Given the description of an element on the screen output the (x, y) to click on. 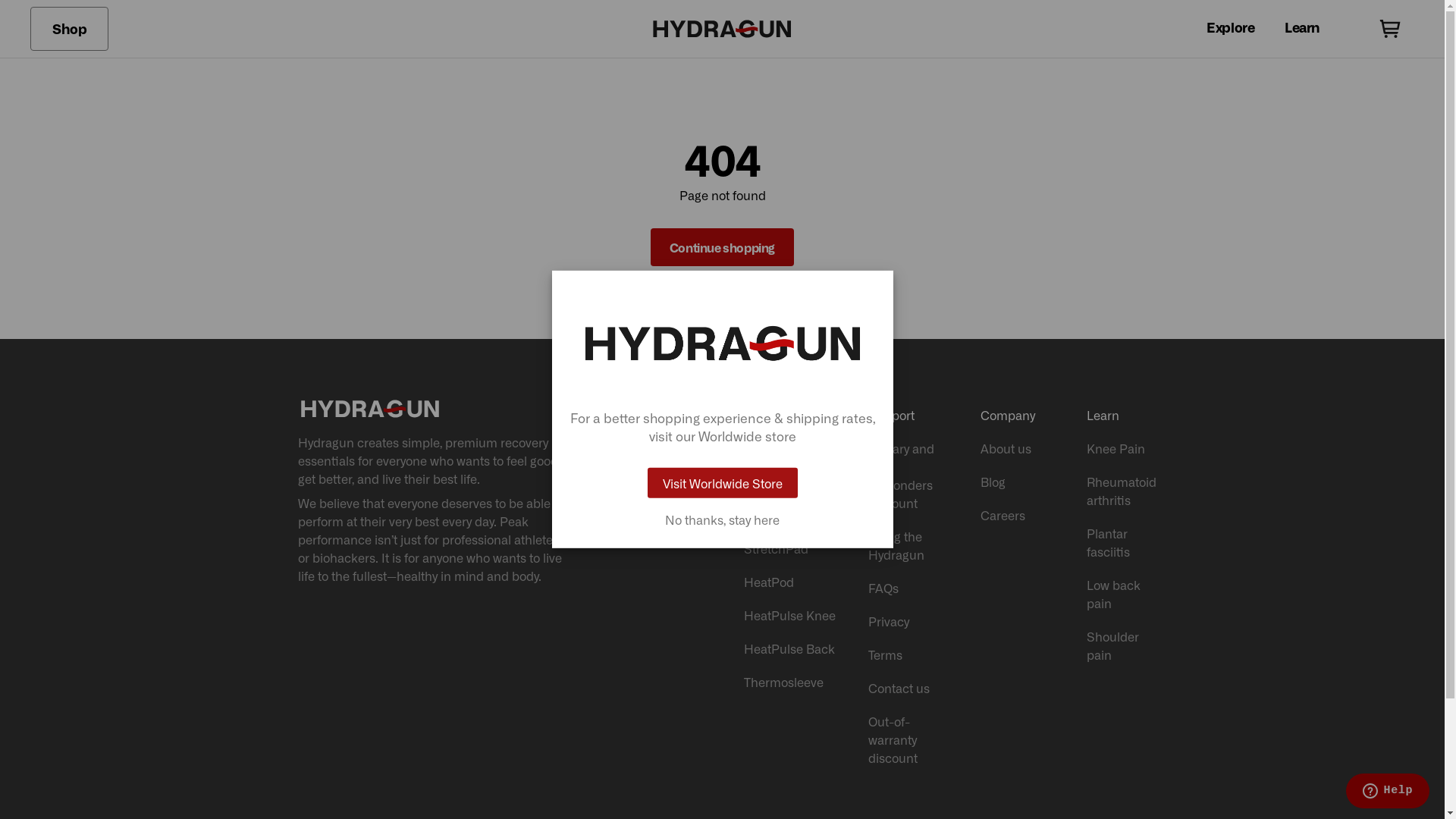
Military and first responders discount Element type: text (908, 475)
StretchPad Element type: text (790, 548)
Hydragun Atom Element type: text (790, 514)
HeatPulse Back Element type: text (790, 648)
Rheumatoid arthritis Element type: text (1123, 490)
HeatPod Element type: text (790, 581)
Shop Element type: text (69, 28)
Privacy Element type: text (908, 620)
Plantar fasciitis Element type: text (1123, 541)
Terms Element type: text (908, 654)
Opens a widget where you can find more information Element type: hover (1387, 792)
Continue shopping Element type: text (721, 247)
Contact us Element type: text (908, 687)
No thanks, stay here Element type: text (722, 519)
Shoulder pain Element type: text (1123, 645)
HeatPulse Knee Element type: text (790, 614)
Low back pain Element type: text (1123, 593)
Thermosleeve Element type: text (790, 681)
All products Element type: text (790, 448)
Visit Worldwide Store Element type: text (722, 482)
Knee Pain Element type: text (1123, 448)
About us Element type: text (1017, 448)
Using the Hydragun Element type: text (908, 544)
Hydragun Element type: text (790, 481)
Blog Element type: text (1017, 481)
Careers Element type: text (1017, 514)
FAQs Element type: text (908, 587)
